Given the description of an element on the screen output the (x, y) to click on. 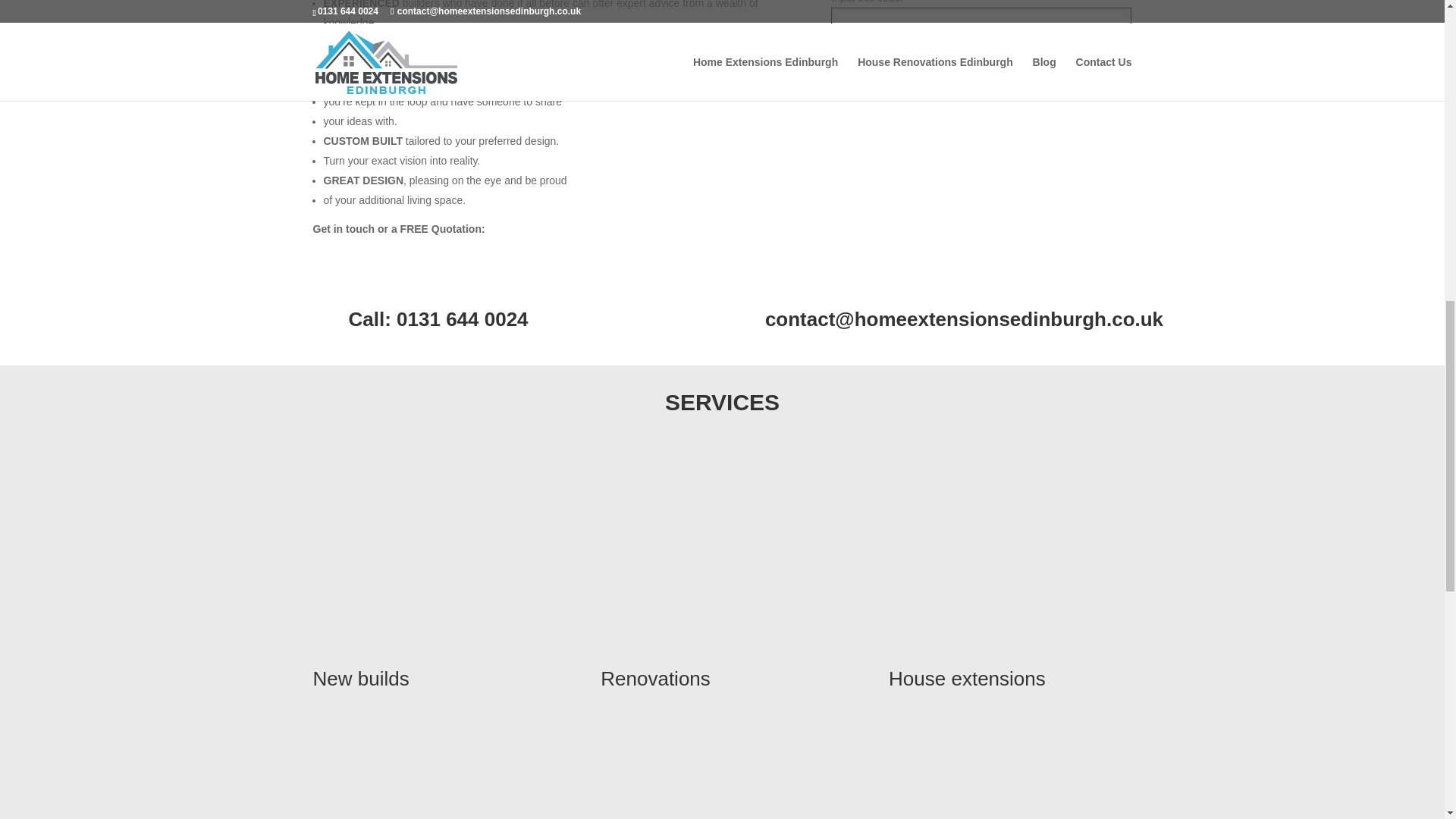
Send (981, 71)
Call: 0131 644 0024 (438, 318)
Send (981, 71)
